Given the description of an element on the screen output the (x, y) to click on. 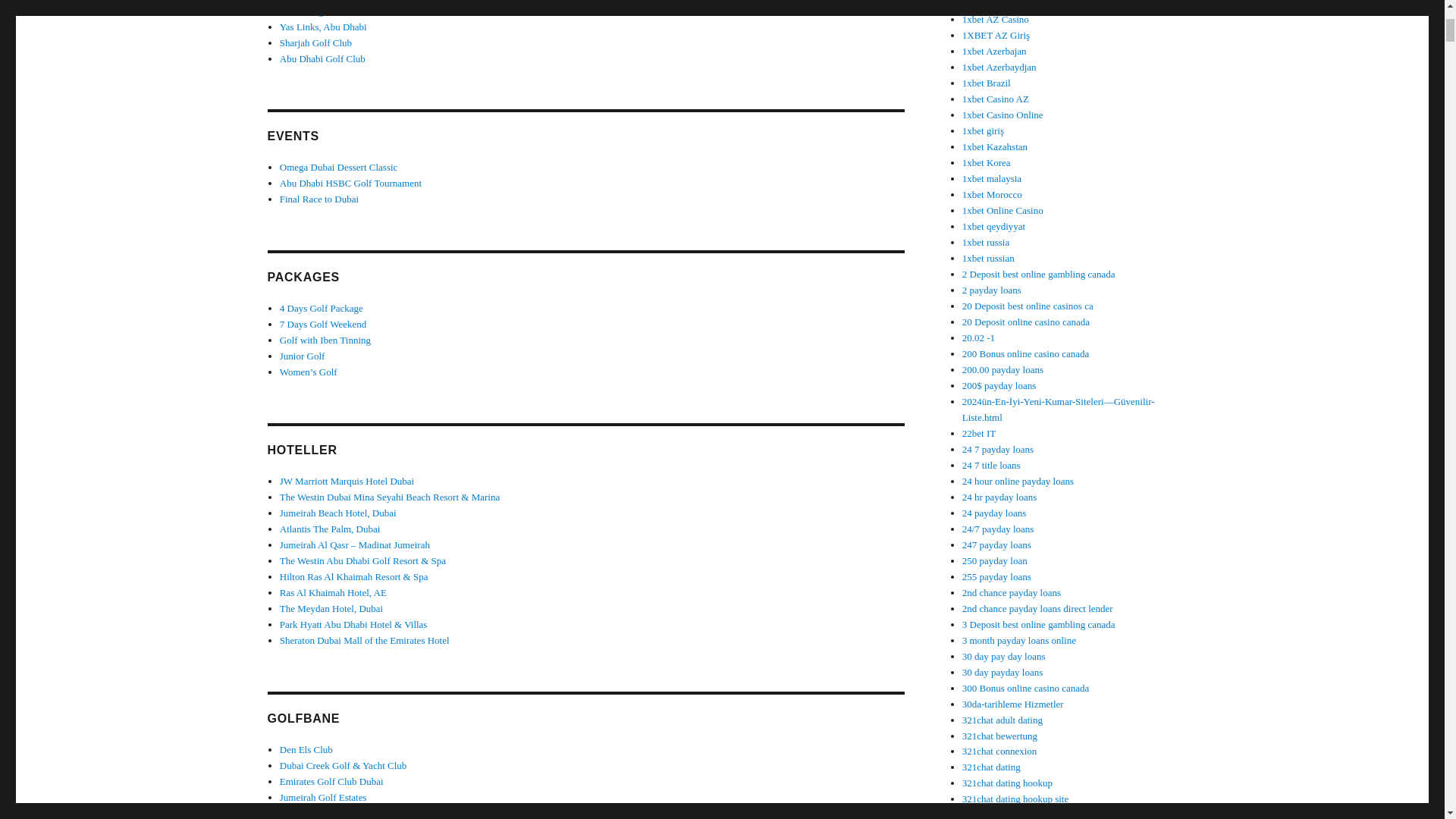
Yas Links, Abu Dhabi (322, 26)
The Montgomerie Dubai (328, 10)
Final Race to Dubai (318, 198)
Abu Dhabi Golf Club (322, 58)
JW Marriott Marquis Hotel Dubai (346, 480)
7 Days Golf Weekend (322, 324)
Atlantis The Palm, Dubai (329, 528)
Junior Golf (301, 355)
Sharjah Golf Club (315, 42)
